Given the description of an element on the screen output the (x, y) to click on. 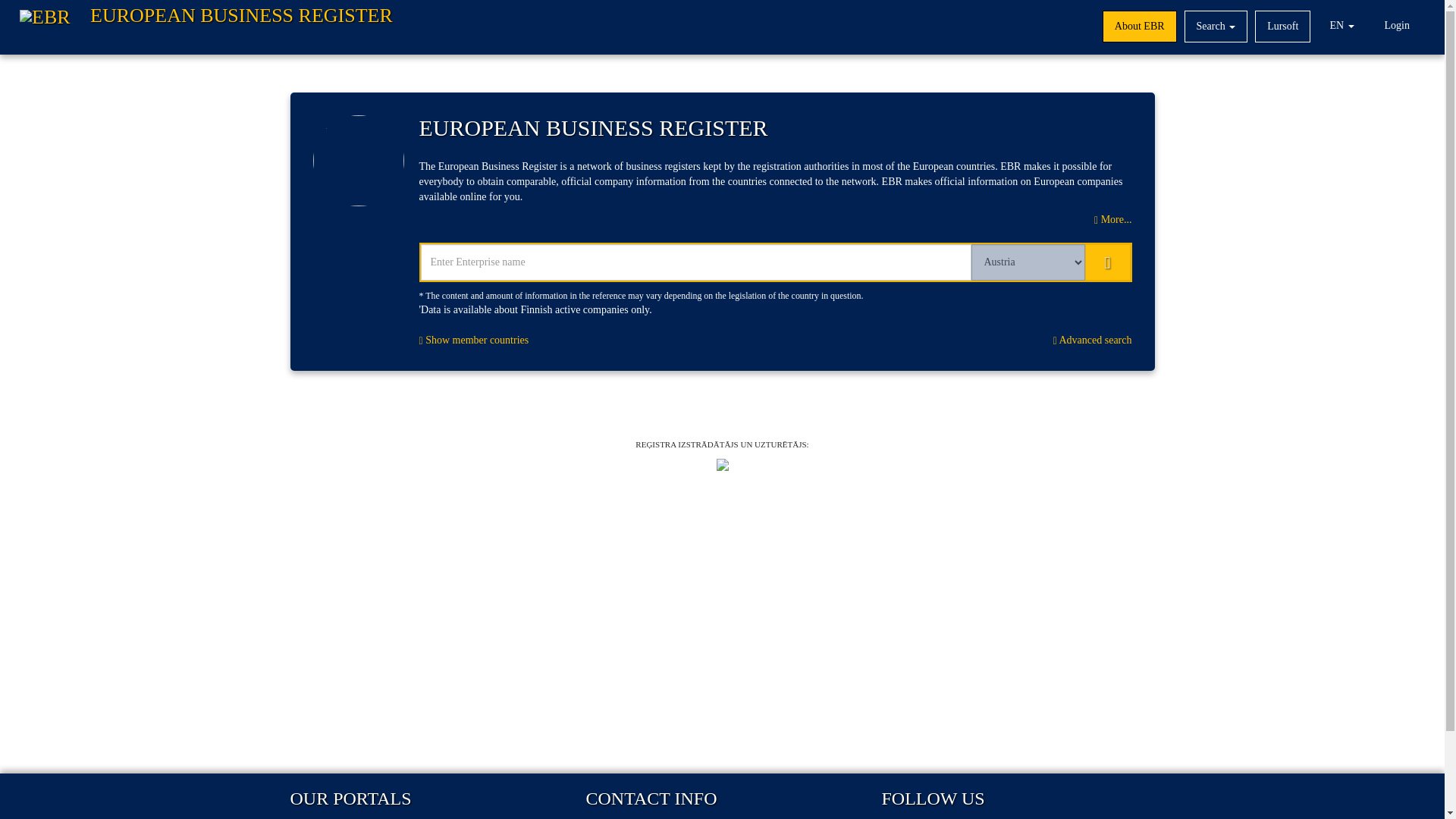
EN (1341, 26)
More... (1112, 219)
Search (1216, 26)
EUROPEAN BUSINESS REGISTER (206, 26)
Lursoft (1282, 26)
Login (1397, 26)
Show member countries (473, 339)
About EBR (1139, 26)
Advanced search (1092, 340)
